Given the description of an element on the screen output the (x, y) to click on. 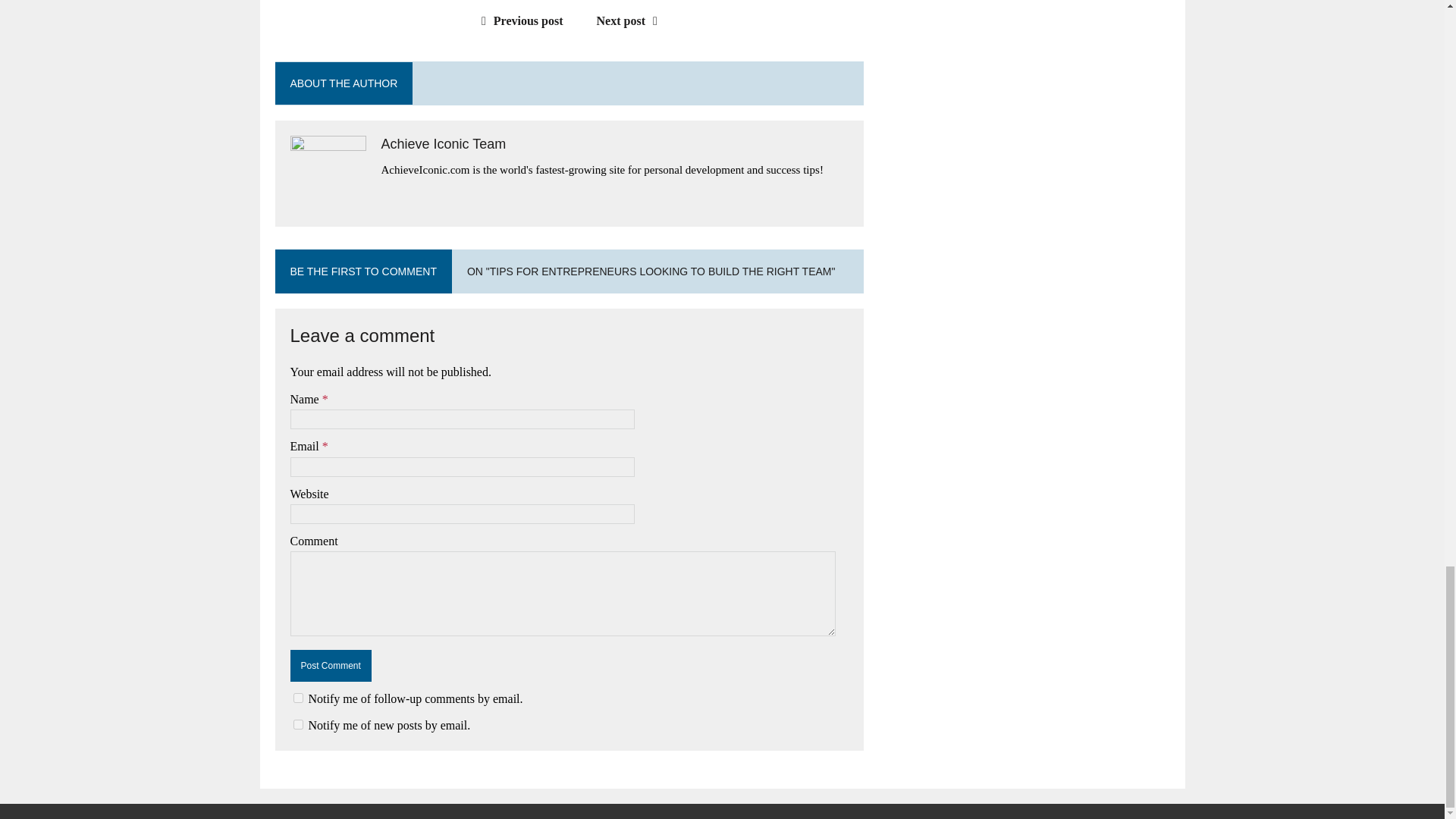
Post Comment (330, 665)
subscribe (297, 724)
Achieve Iconic Team (442, 143)
Post Comment (330, 665)
Next post (630, 20)
Previous post (518, 20)
subscribe (297, 697)
